Given the description of an element on the screen output the (x, y) to click on. 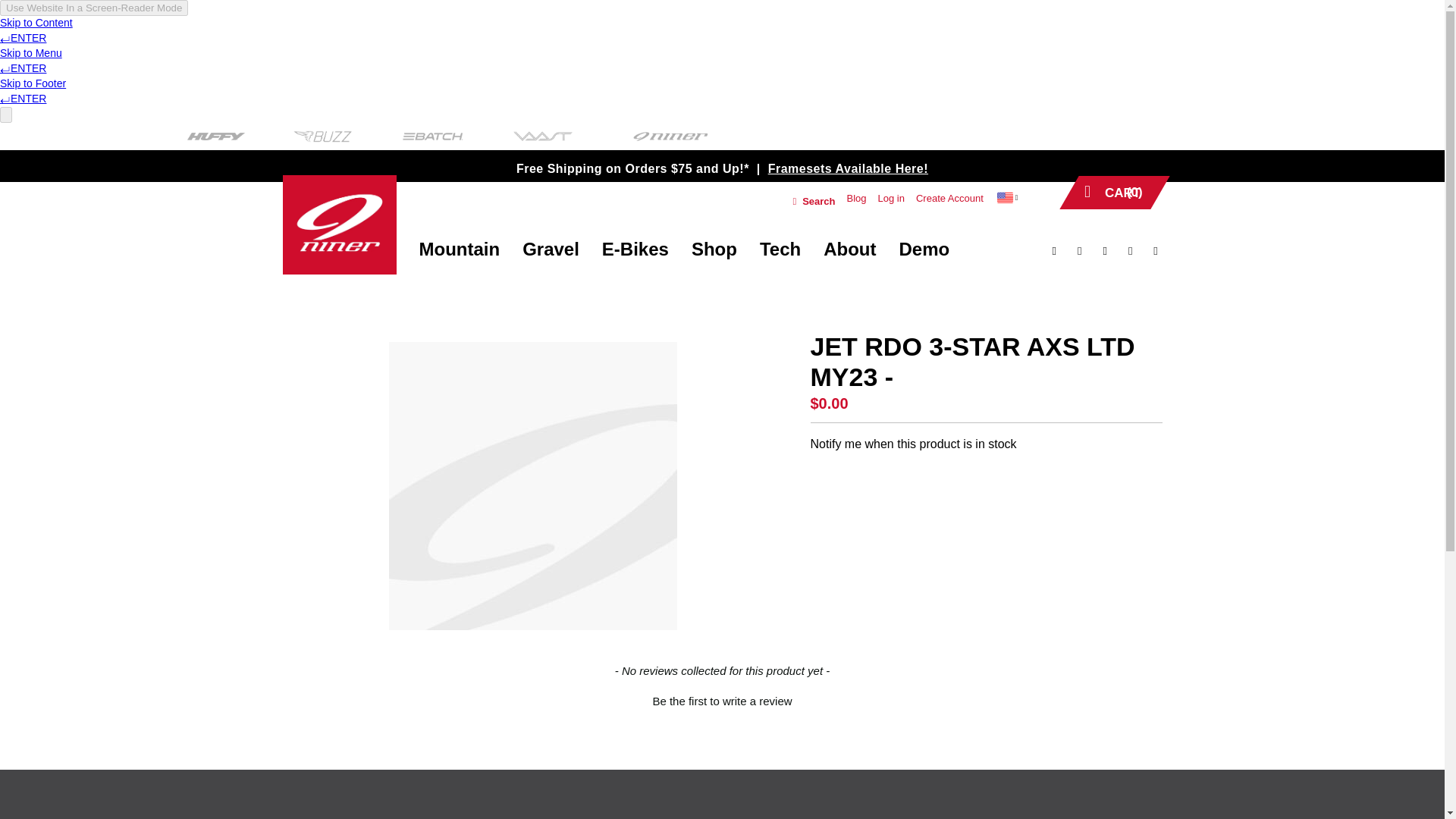
About (849, 248)
Instagram - Niner Bikes (1150, 250)
Log in (890, 198)
Create Account (949, 198)
Facebook - Niner Bikes (1048, 250)
E-Bikes (635, 248)
Blog (855, 198)
Niner Bikes (339, 226)
Shop (713, 248)
Demo (923, 248)
Twitter - Niner Bikes (1074, 250)
Gravel (550, 248)
Vimeo - Niner Bikes (1099, 250)
Mountain (458, 248)
Niner Bikes (339, 224)
